Given the description of an element on the screen output the (x, y) to click on. 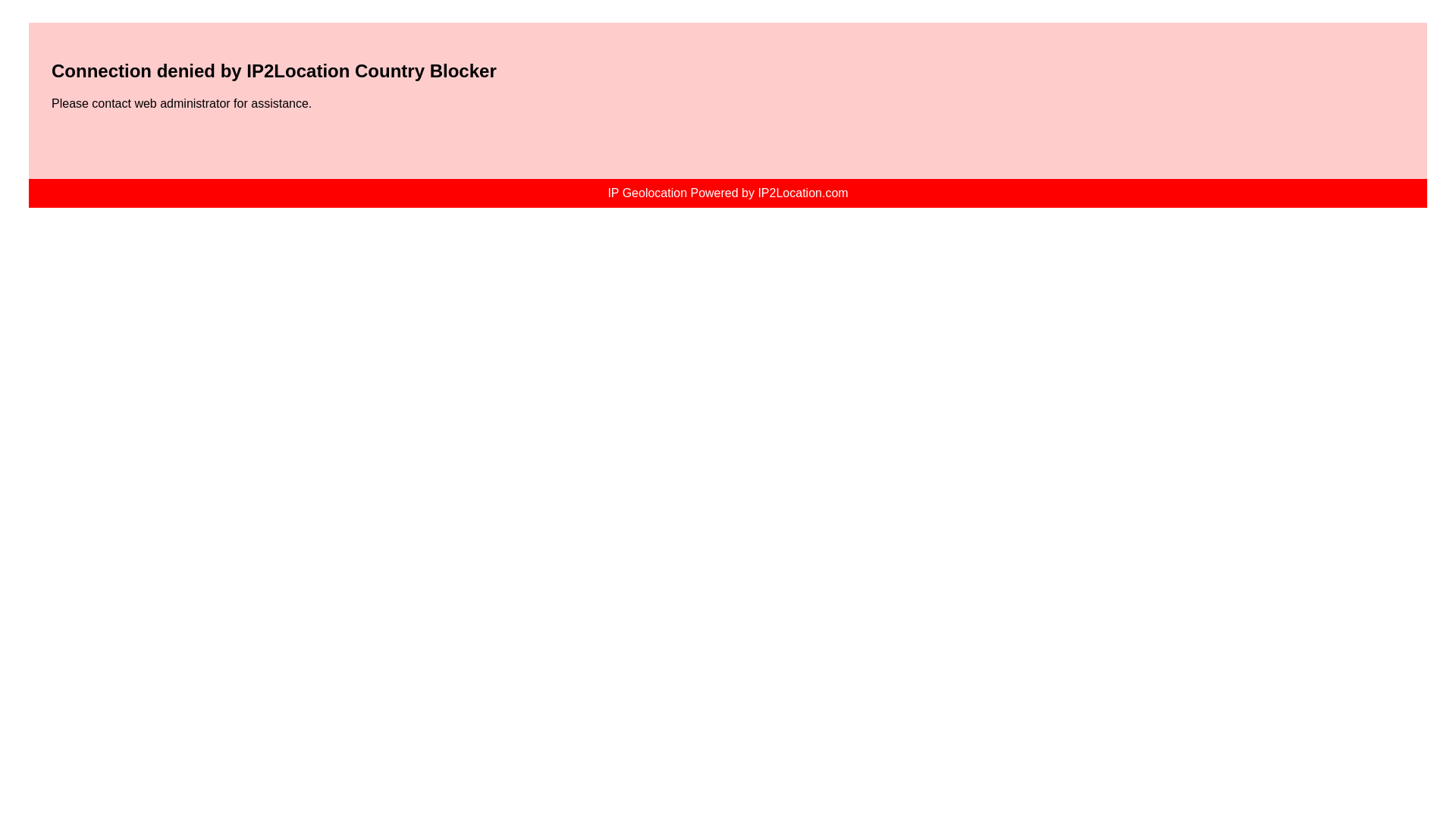
IP Geolocation Powered by IP2Location.com (727, 192)
